Given the description of an element on the screen output the (x, y) to click on. 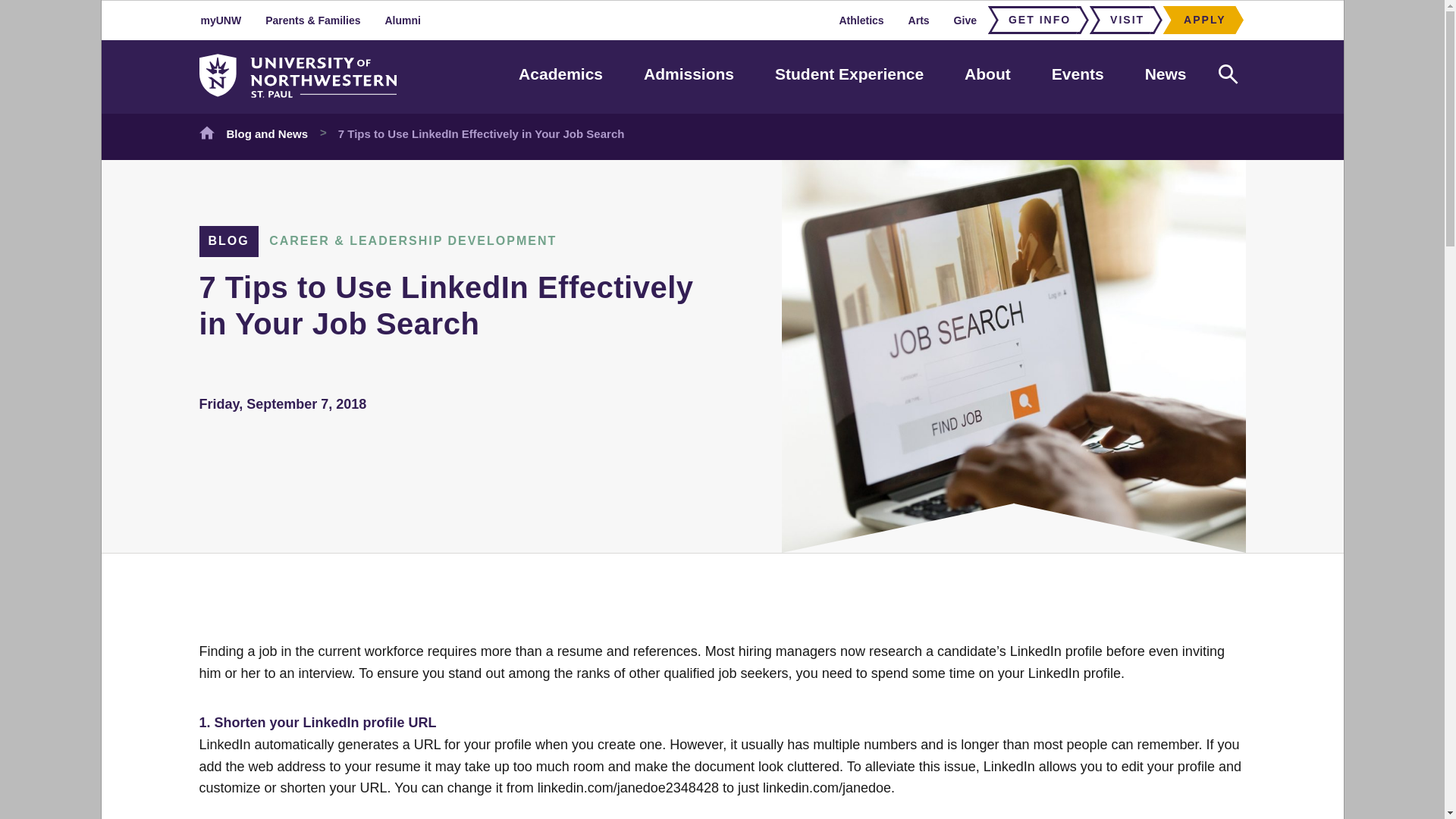
Athletics (860, 20)
GET INFO (1034, 20)
Academics (560, 73)
VISIT (1121, 20)
APPLY (1199, 20)
Admissions (688, 73)
Give (964, 20)
Alumni (402, 20)
Arts (919, 20)
Logo Header (297, 75)
